Given the description of an element on the screen output the (x, y) to click on. 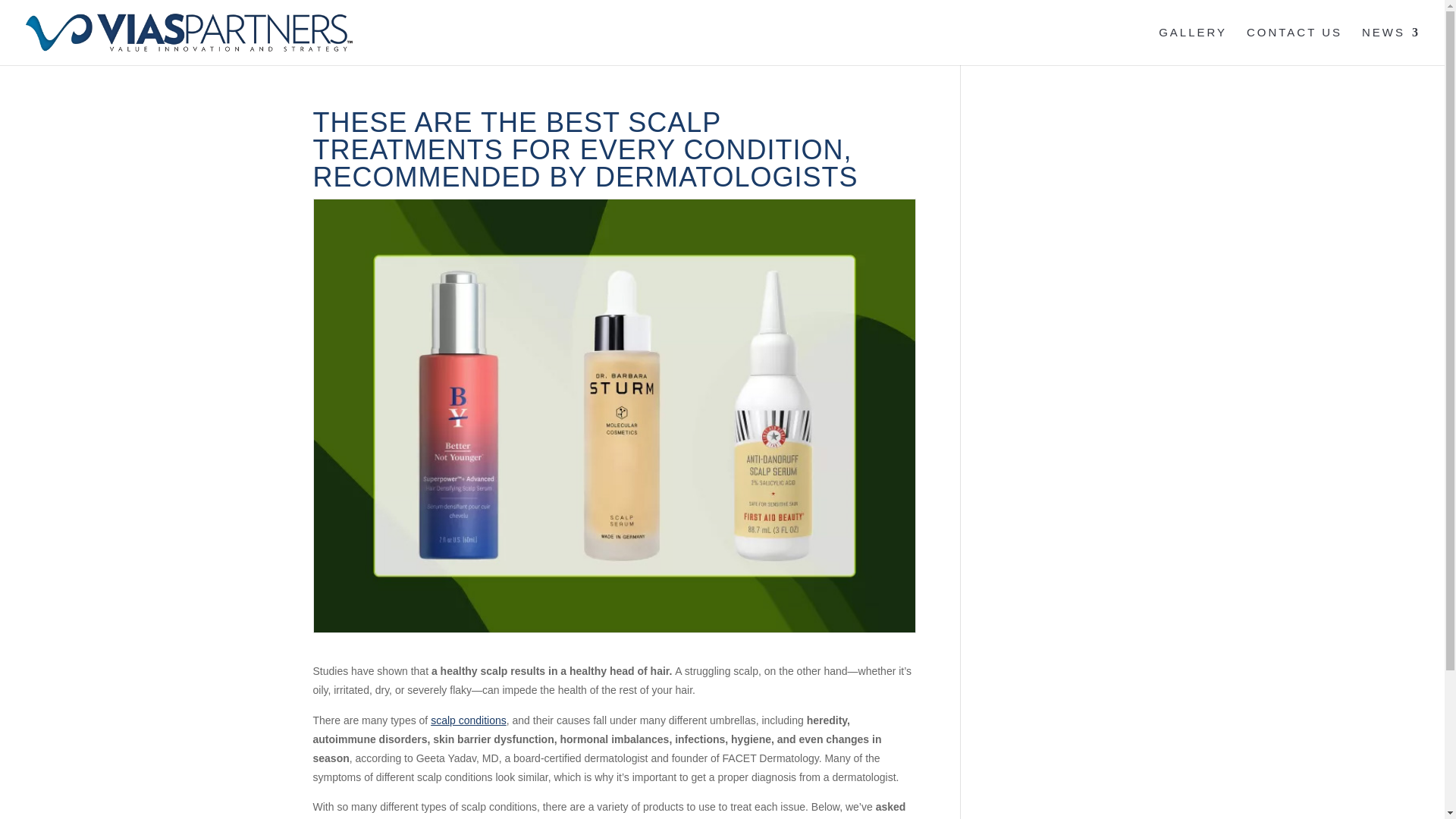
GALLERY (1192, 46)
CONTACT US (1294, 46)
NEWS (1391, 46)
scalp conditions (468, 720)
